Given the description of an element on the screen output the (x, y) to click on. 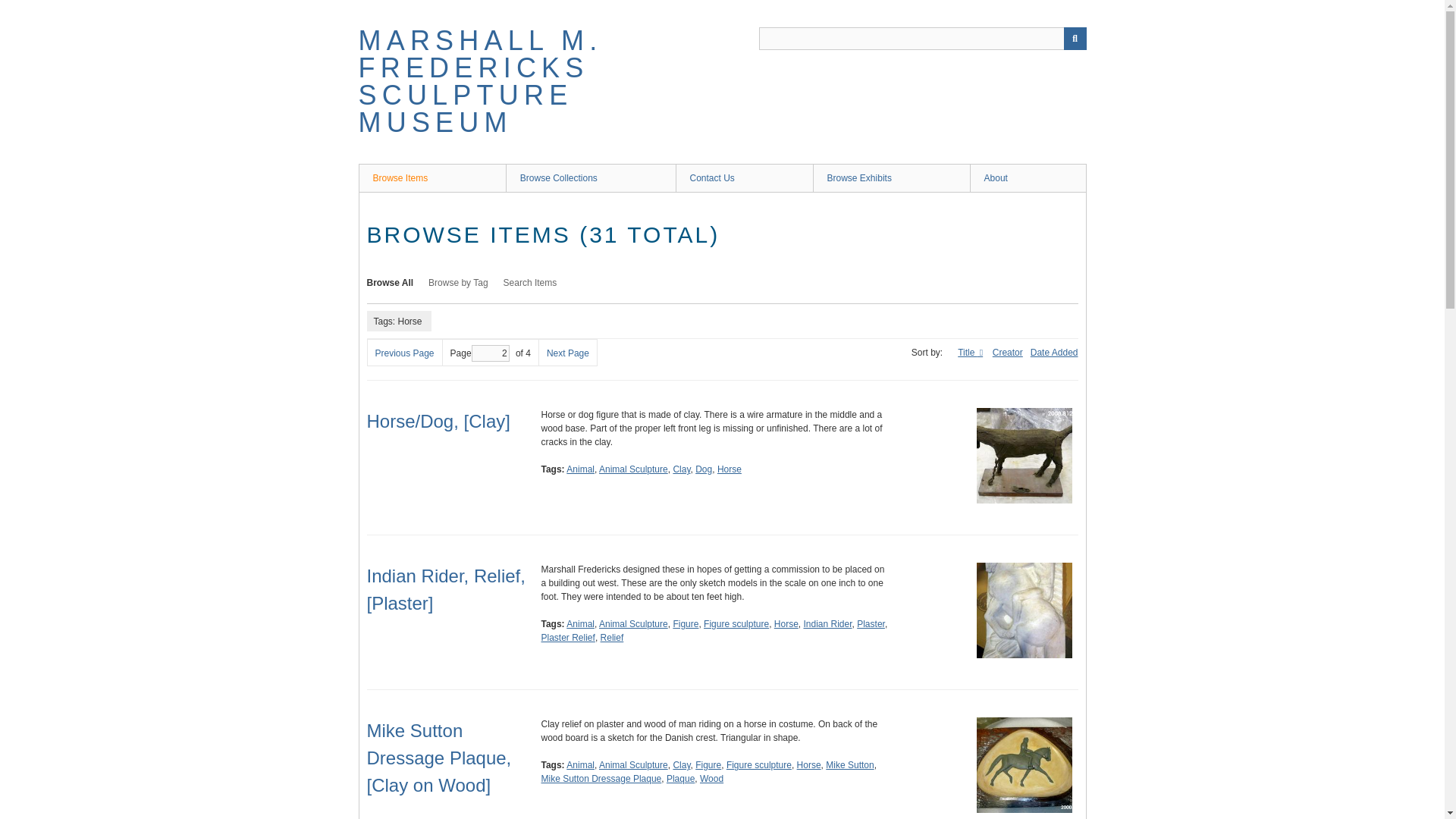
Relief (611, 637)
Submit (1074, 38)
About (1027, 177)
2000.845.jpg (1023, 765)
Indian Rider (827, 624)
Query (922, 38)
Browse Exhibits (890, 177)
Browse All (389, 282)
MARSHALL M. FREDERICKS SCULPTURE MUSEUM (480, 81)
Browse Collections (590, 177)
Title (971, 352)
Contact Us (743, 177)
Animal Sculpture (633, 469)
Figure (685, 624)
Previous Page (403, 352)
